Given the description of an element on the screen output the (x, y) to click on. 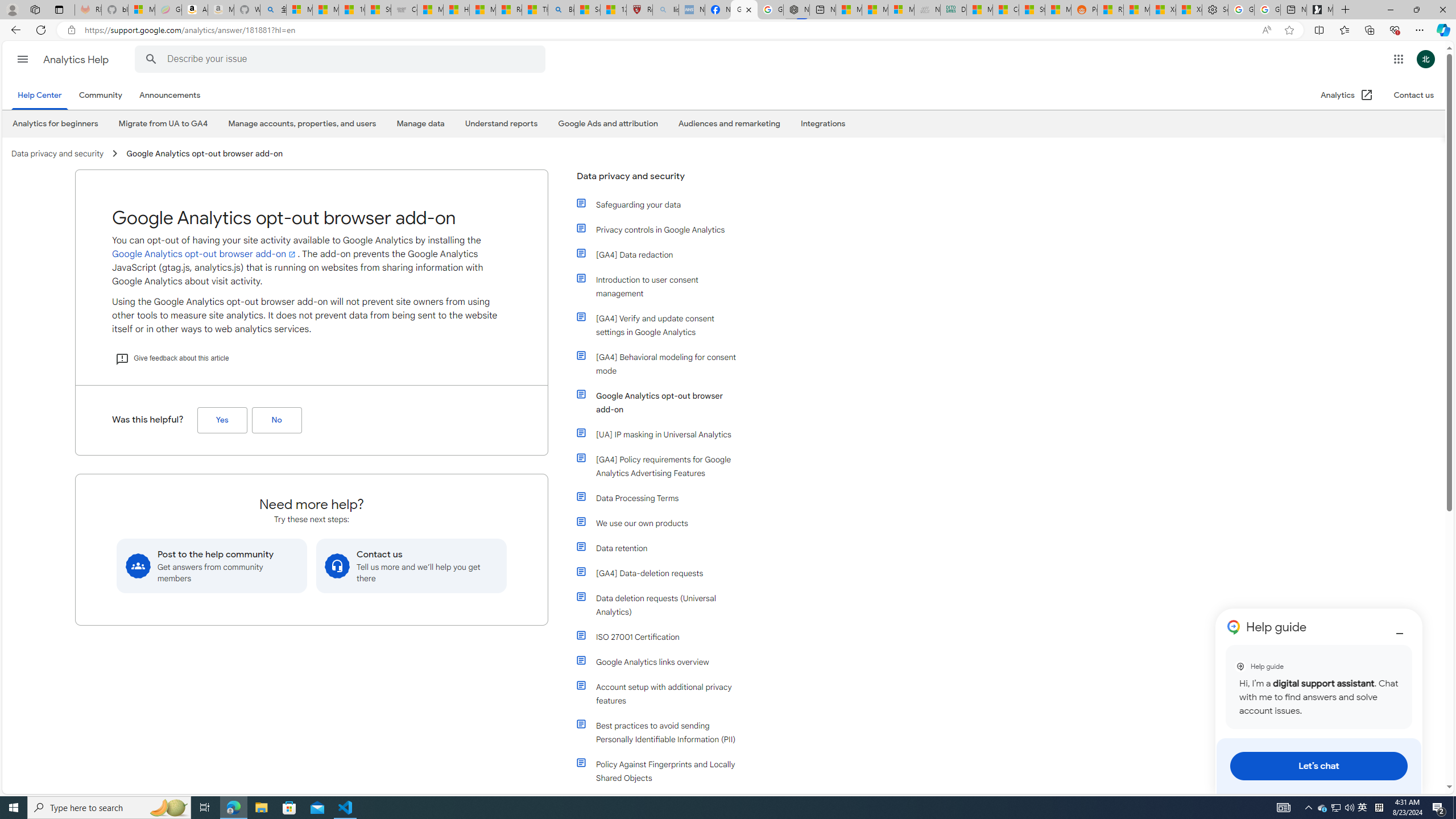
No (Was this helpful?) (276, 420)
Safeguarding your data (664, 204)
Community (102, 95)
Bing (561, 9)
Migrate from UA to GA4 (162, 123)
We use our own products (664, 523)
Robert H. Shmerling, MD - Harvard Health (639, 9)
Data controls in Universal Analytics (664, 802)
Google apps (1398, 58)
